Given the description of an element on the screen output the (x, y) to click on. 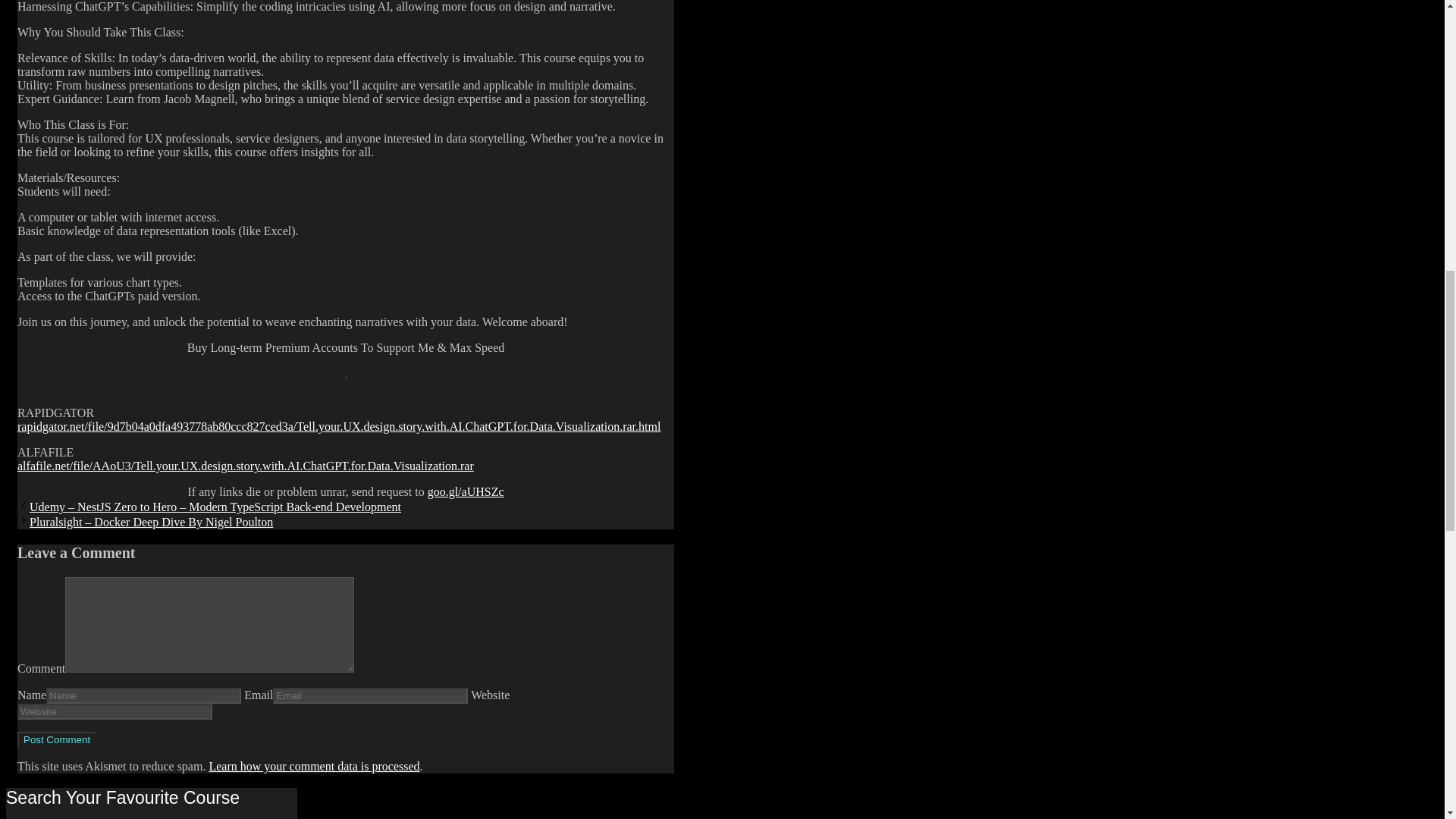
Post Comment (56, 739)
Post Comment (56, 739)
Learn how your comment data is processed (313, 766)
